Given the description of an element on the screen output the (x, y) to click on. 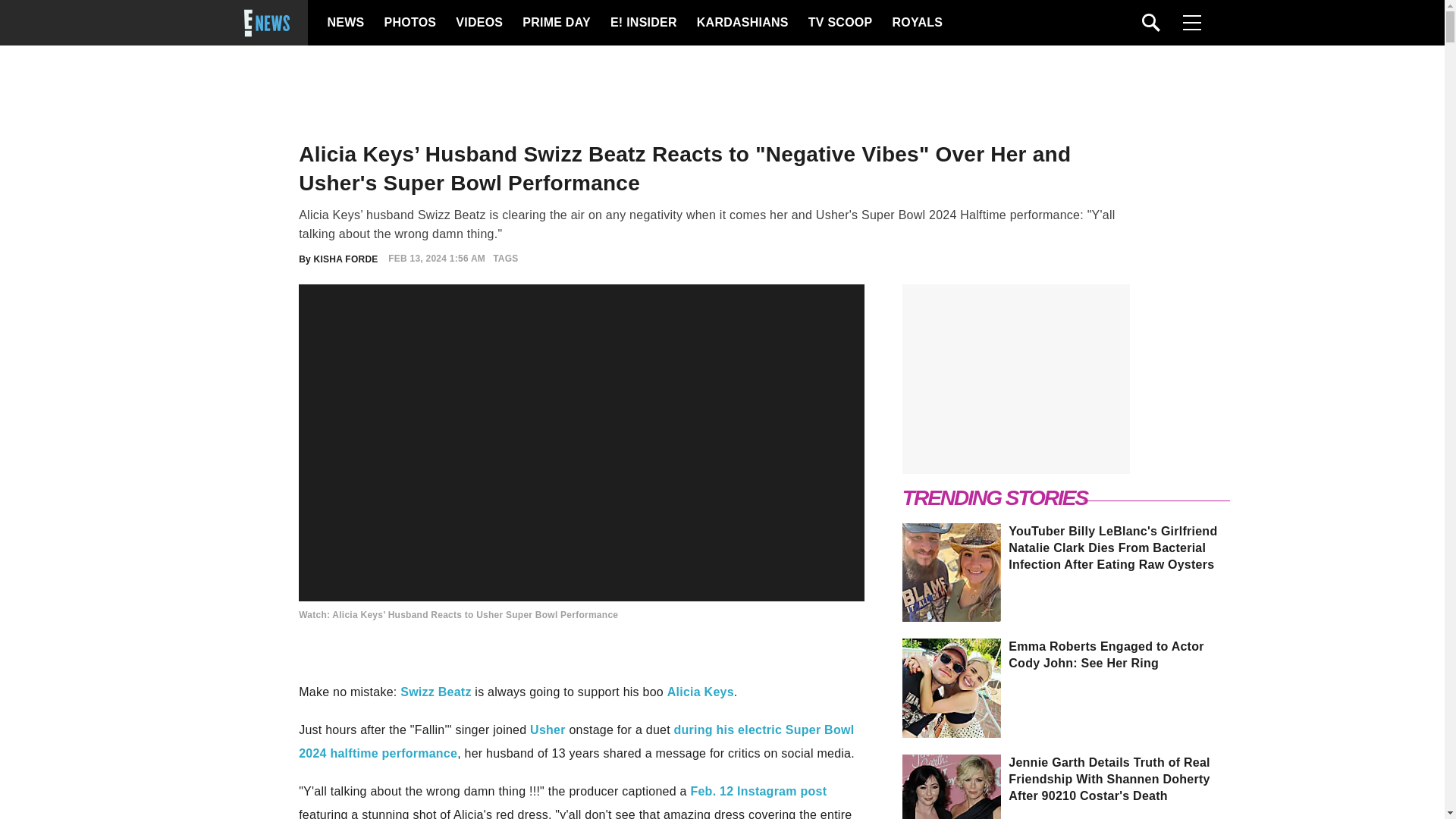
ROYALS (915, 22)
Alicia Keys (699, 691)
Usher (547, 729)
Feb. 12 Instagram post (758, 790)
TV SCOOP (839, 22)
NEWS (345, 22)
PRIME DAY (556, 22)
KISHA FORDE (346, 258)
KARDASHIANS (742, 22)
E! INSIDER (642, 22)
Swizz Beatz (435, 691)
PHOTOS (408, 22)
during his electric Super Bowl 2024 halftime performance (575, 741)
VIDEOS (478, 22)
